Given the description of an element on the screen output the (x, y) to click on. 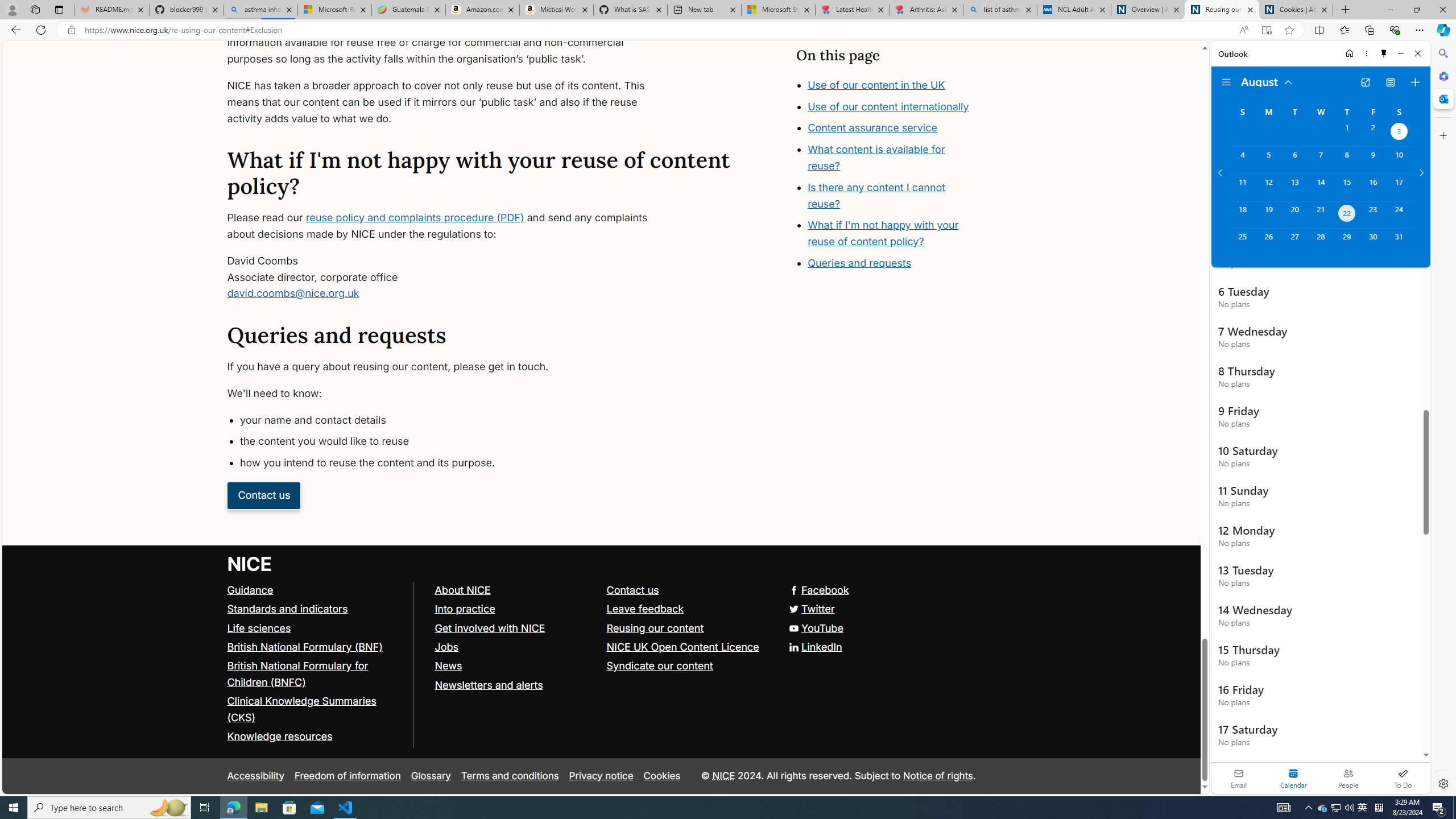
Newsletters and alerts (514, 684)
Unpin side pane (1383, 53)
Monday, August 26, 2024.  (1268, 241)
Leave feedback (644, 608)
Life sciences (315, 628)
Folder navigation (1225, 82)
list of asthma inhalers uk - Search (1000, 9)
Thursday, August 15, 2024.  (1346, 186)
